Given the description of an element on the screen output the (x, y) to click on. 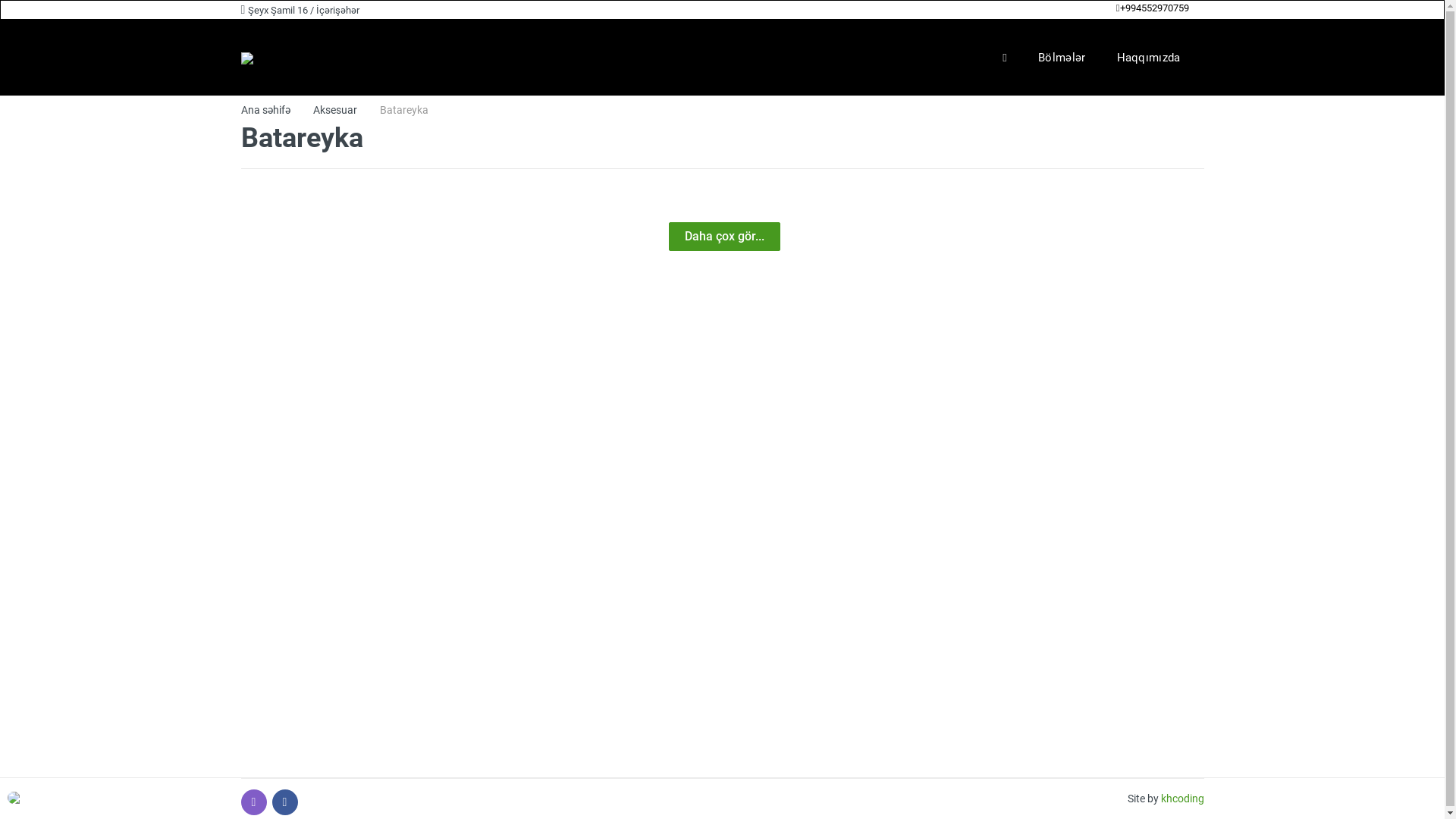
khcoding Element type: text (1181, 798)
Aksesuar Element type: text (334, 109)
+994552970759 Element type: text (1152, 7)
